Given the description of an element on the screen output the (x, y) to click on. 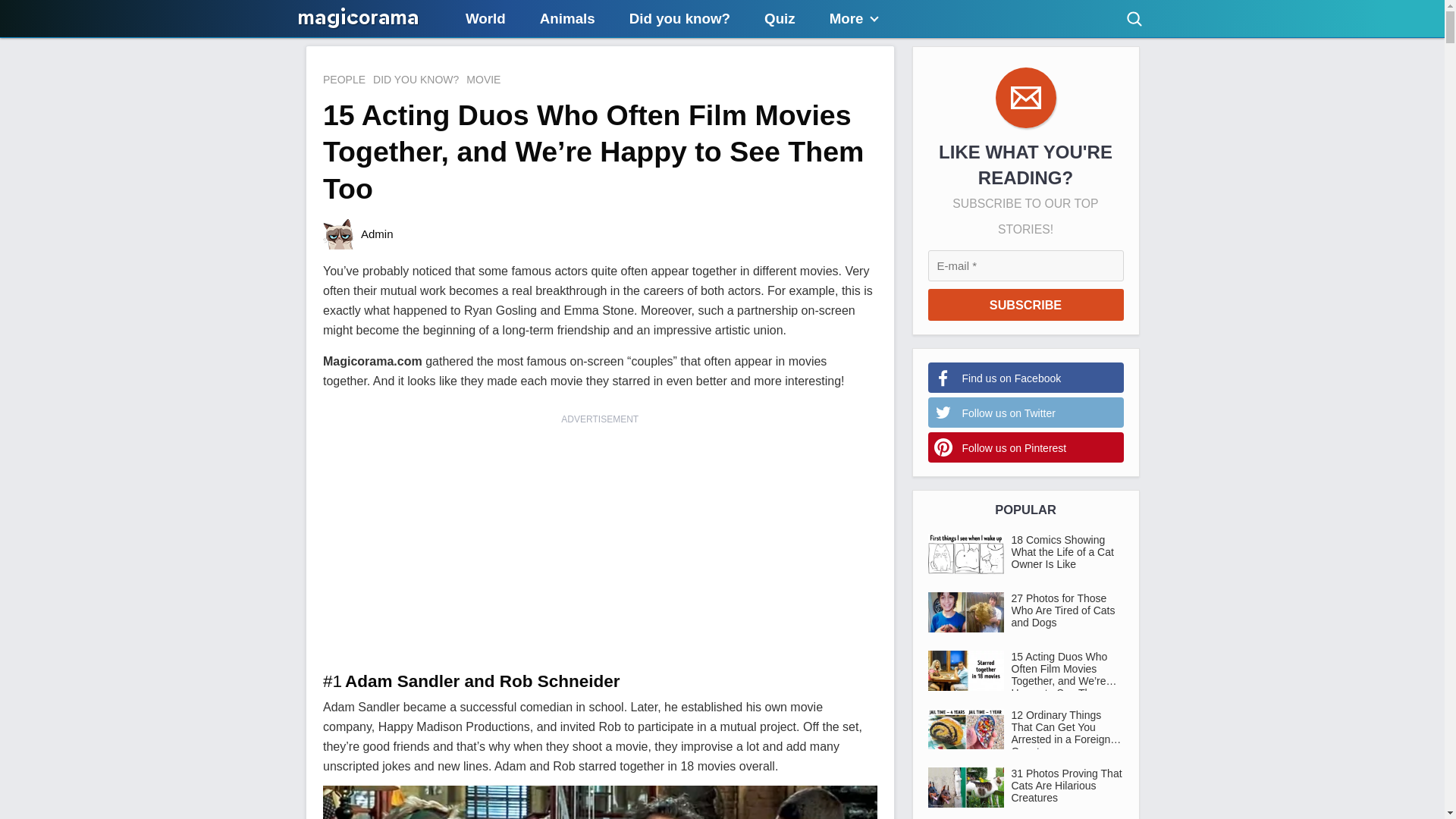
Quiz (779, 18)
Advertisement (600, 533)
Animals (567, 18)
SUBSCRIBE (1026, 305)
World (485, 18)
MOVIE (482, 78)
Did you know? (679, 18)
DID YOU KNOW? (415, 78)
More (853, 18)
PEOPLE (344, 78)
